Given the description of an element on the screen output the (x, y) to click on. 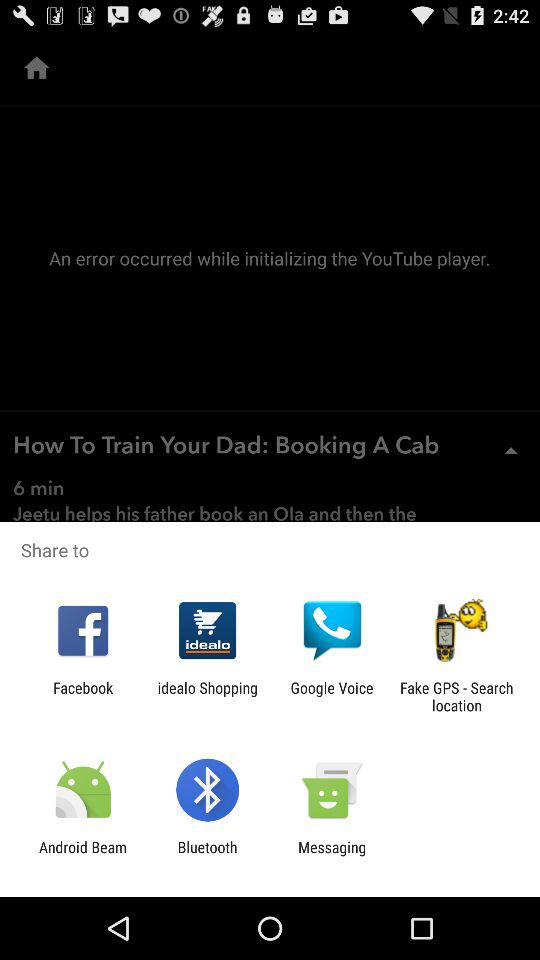
tap the item next to idealo shopping icon (83, 696)
